Given the description of an element on the screen output the (x, y) to click on. 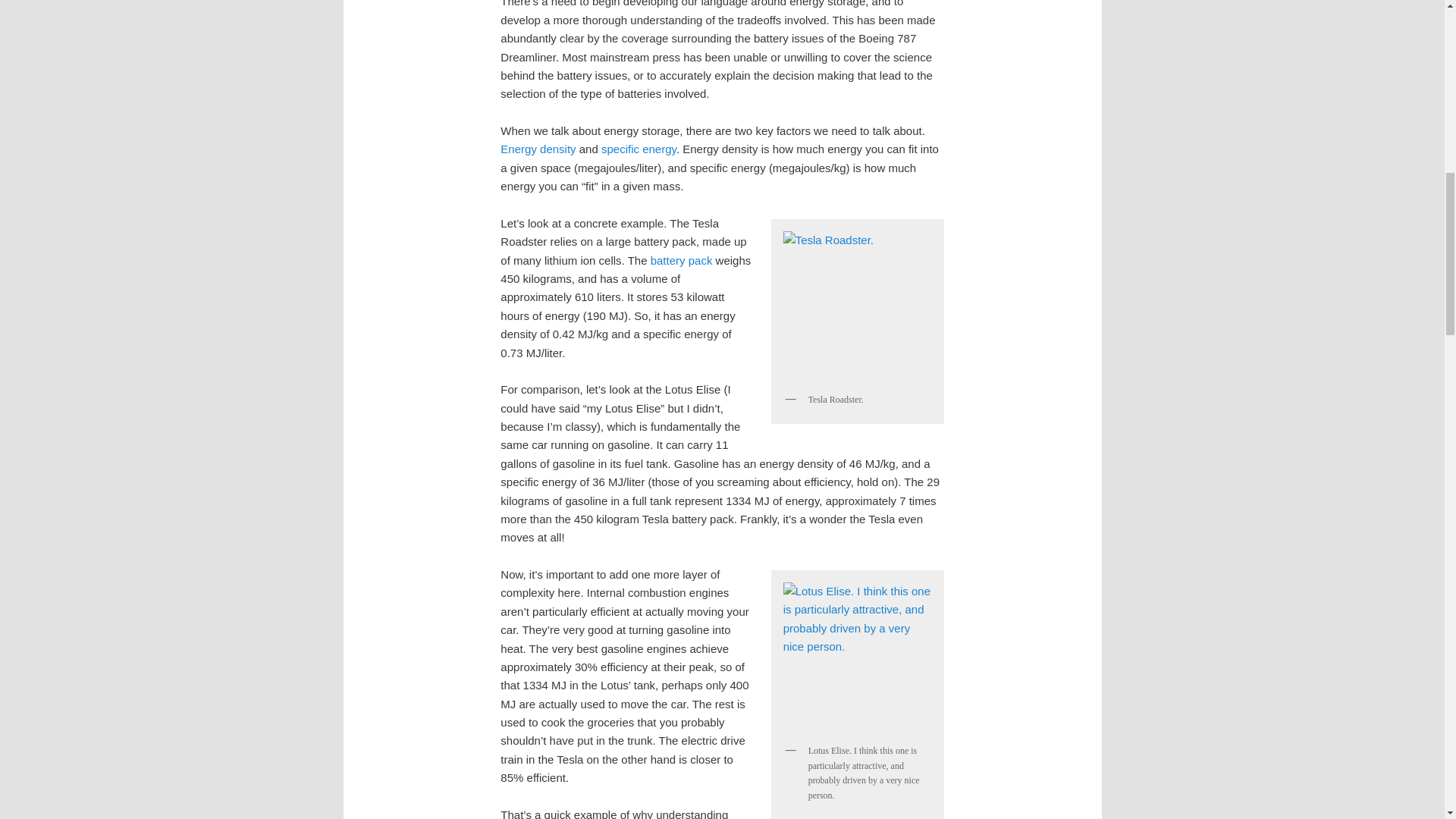
Energy density (537, 148)
specific energy (639, 148)
battery pack (681, 259)
